Given the description of an element on the screen output the (x, y) to click on. 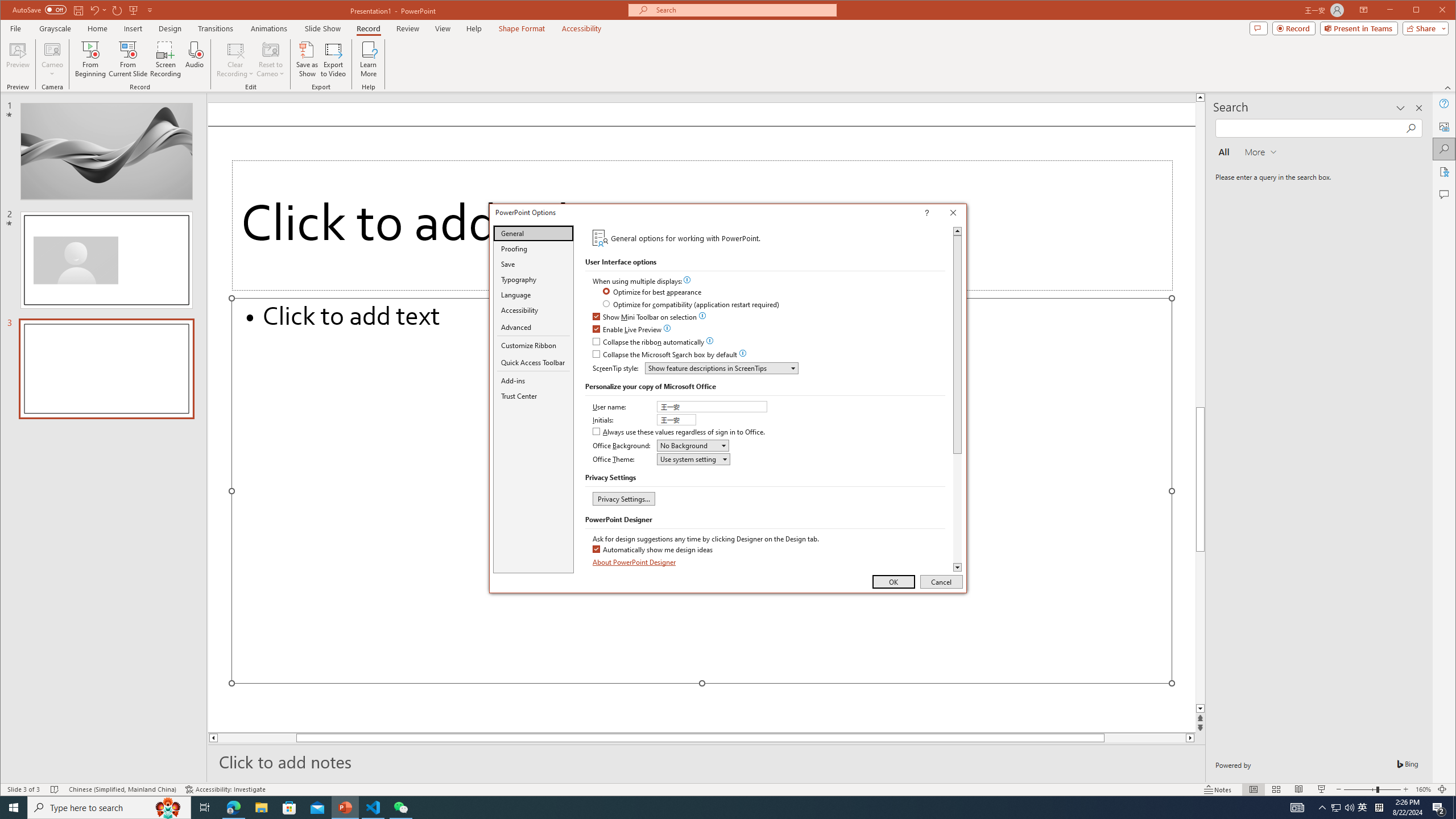
OK (893, 581)
Language (533, 294)
From Beginning... (90, 59)
